Given the description of an element on the screen output the (x, y) to click on. 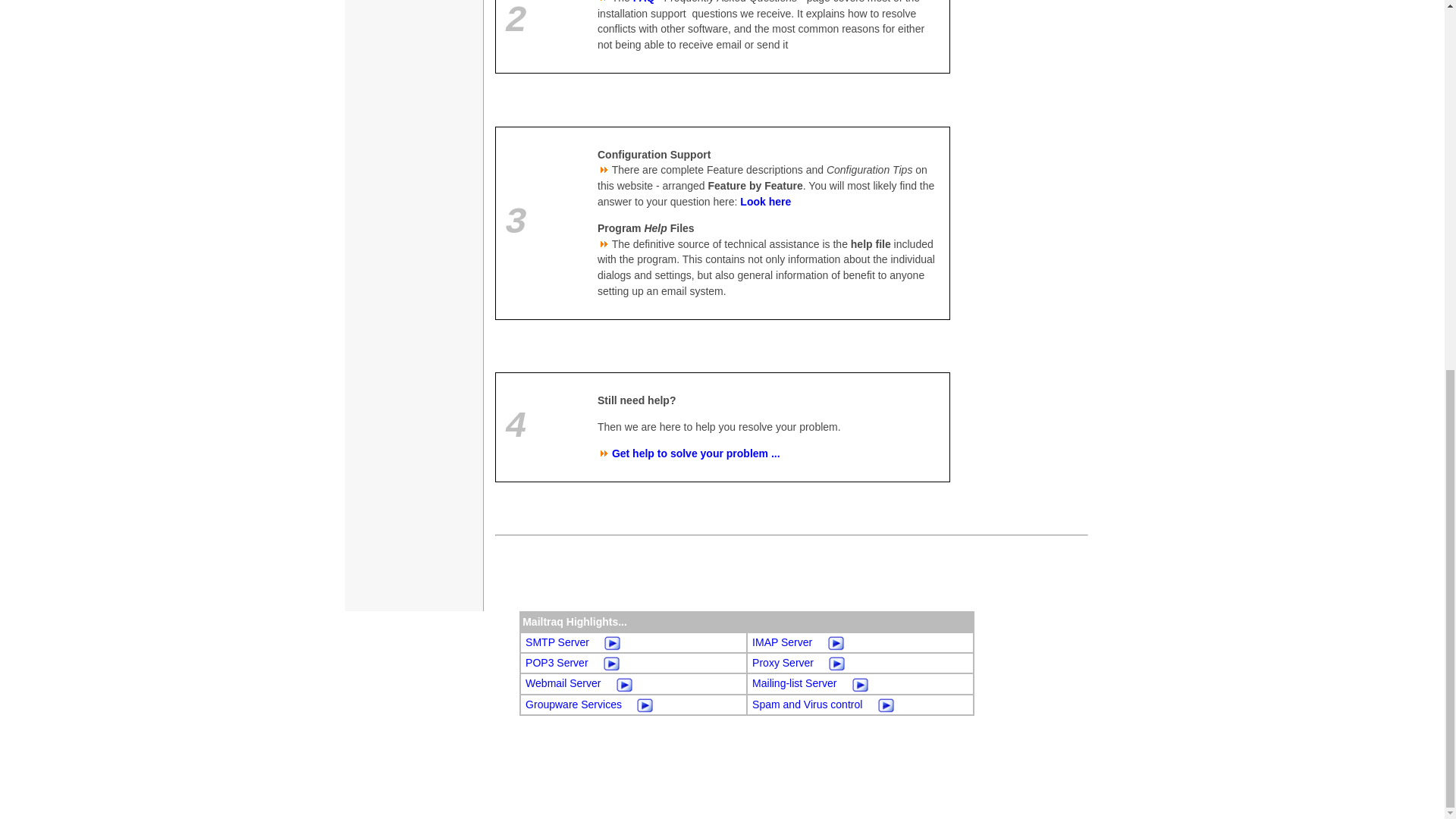
Proxy Server (782, 662)
Mailtraq proxy mail server video (836, 662)
Spam and Virus control (806, 704)
Mailtraq groupware mail services (573, 704)
Look here (764, 201)
Mailtraq webmail mail server video (624, 683)
Mailtraq POP3  mail server video (611, 662)
Groupware Services (573, 704)
IMAP Server (782, 642)
Mailtraq IMAP mail Server video (835, 642)
